Given the description of an element on the screen output the (x, y) to click on. 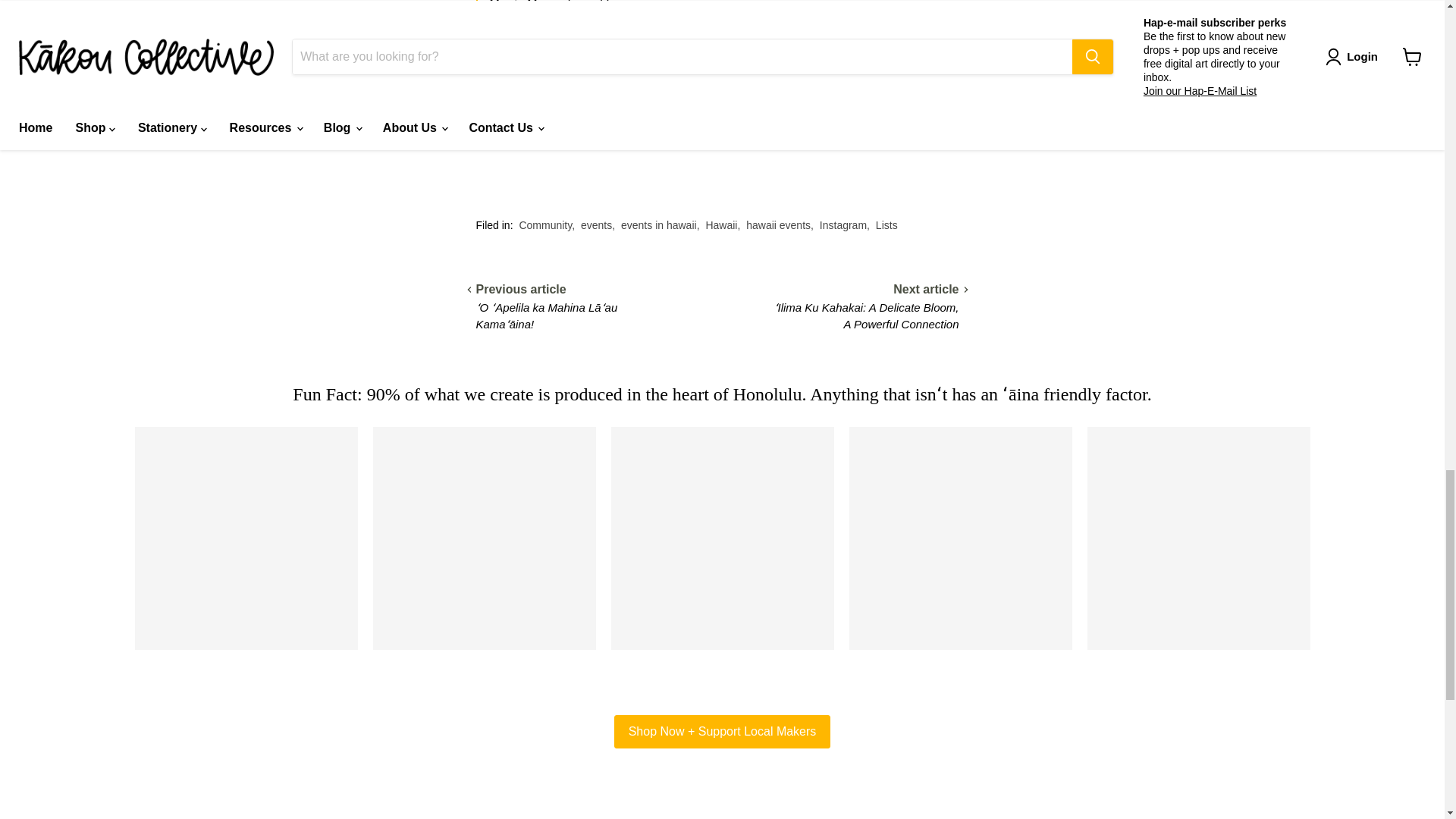
Show articles tagged hawaii events (777, 224)
Show articles tagged events in hawaii (659, 224)
Show articles tagged Community (545, 224)
Show articles tagged events (595, 224)
Show articles tagged Hawaii (720, 224)
Show articles tagged Lists (887, 224)
Show articles tagged Instagram (842, 224)
